Given the description of an element on the screen output the (x, y) to click on. 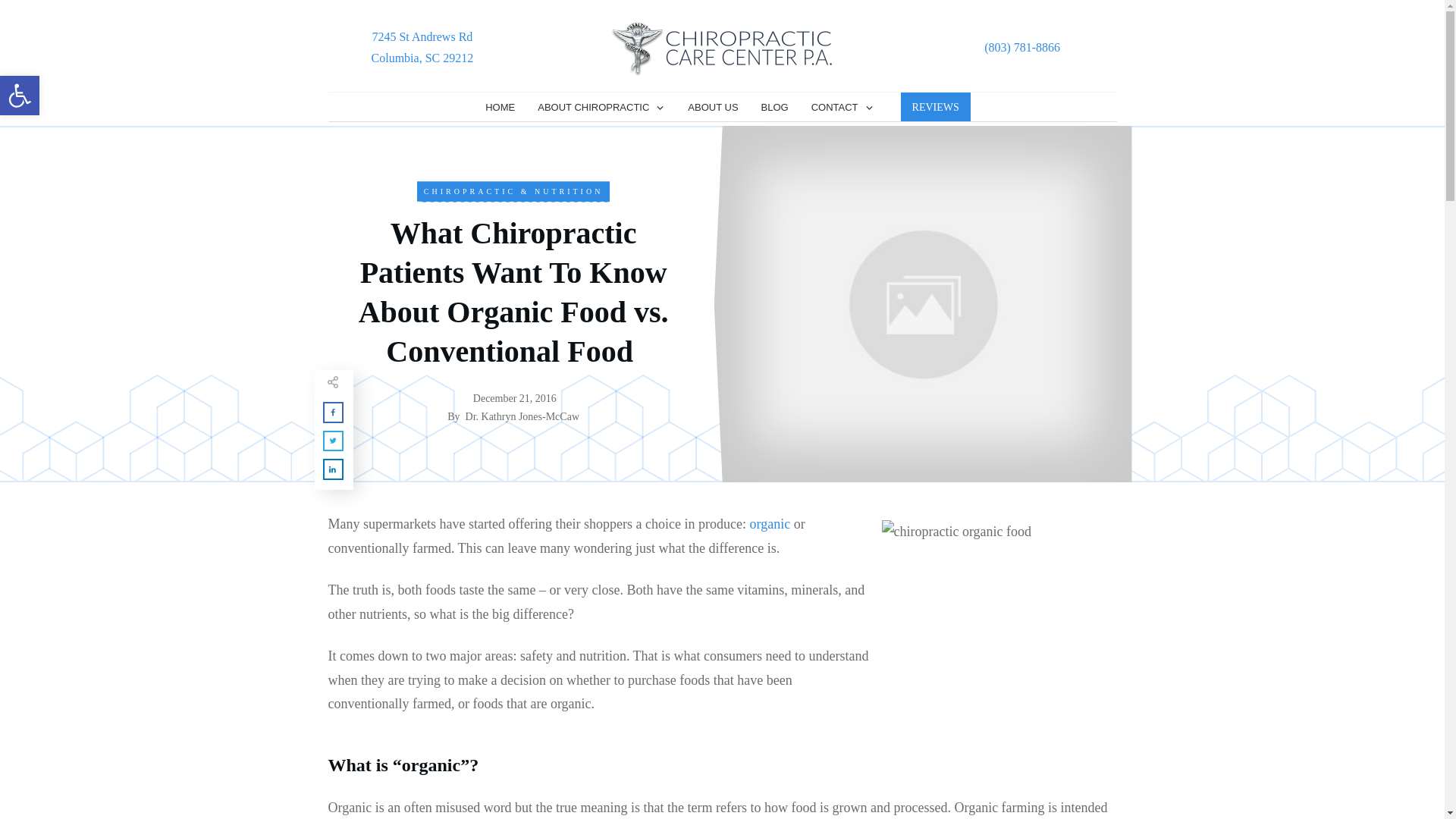
Columbia, SC 29212 (422, 57)
HOME (499, 107)
REVIEWS (935, 107)
ABOUT US (712, 107)
Accessibility Tools (19, 95)
Accessibility Tools (19, 95)
ABOUT CHIROPRACTIC (601, 107)
CONTACT (842, 107)
BLOG (775, 107)
7245 St Andrews Rd (421, 36)
organic (19, 95)
